Given the description of an element on the screen output the (x, y) to click on. 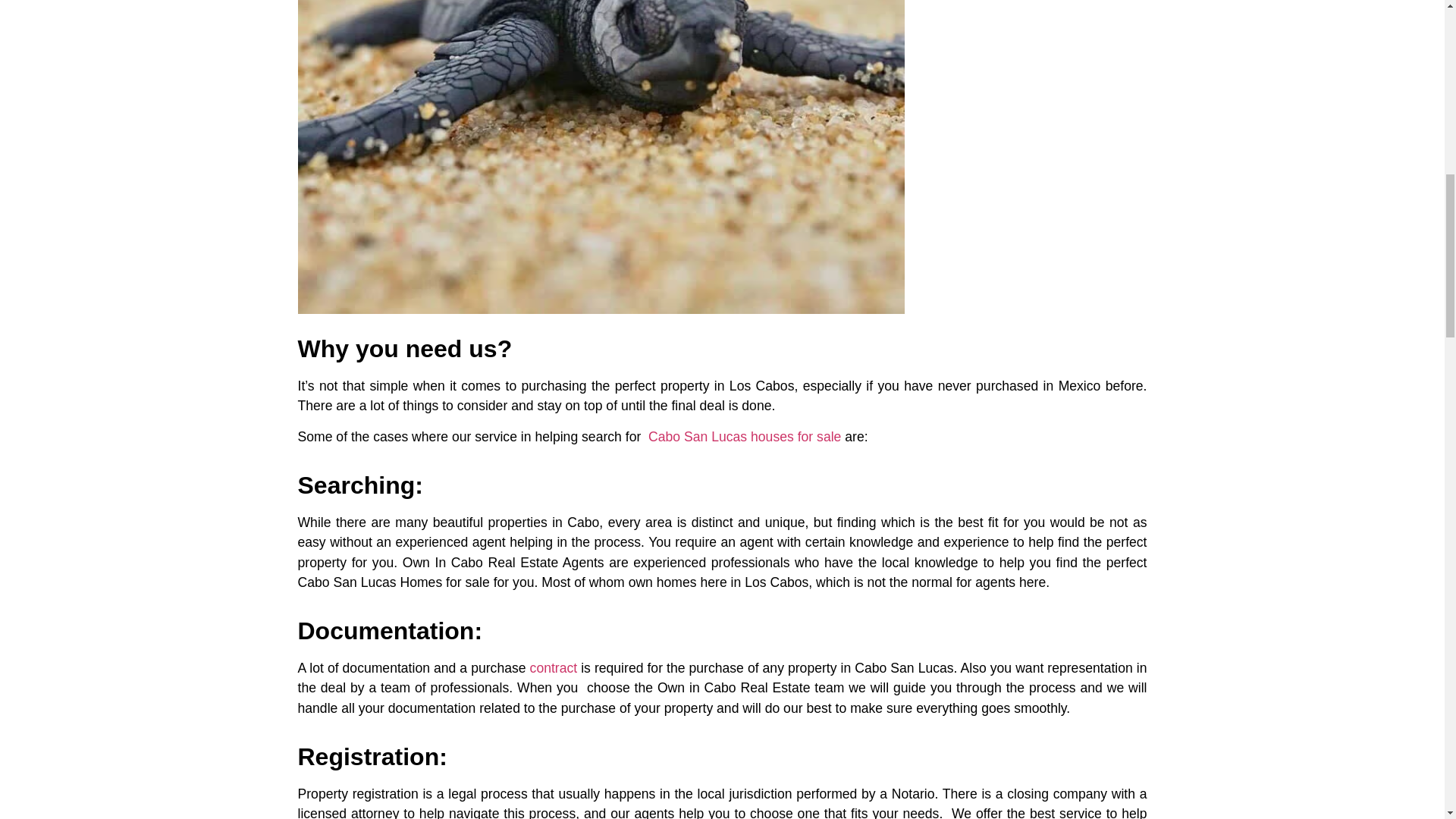
contract (553, 667)
Cabo San Lucas houses for sale (744, 436)
